Given the description of an element on the screen output the (x, y) to click on. 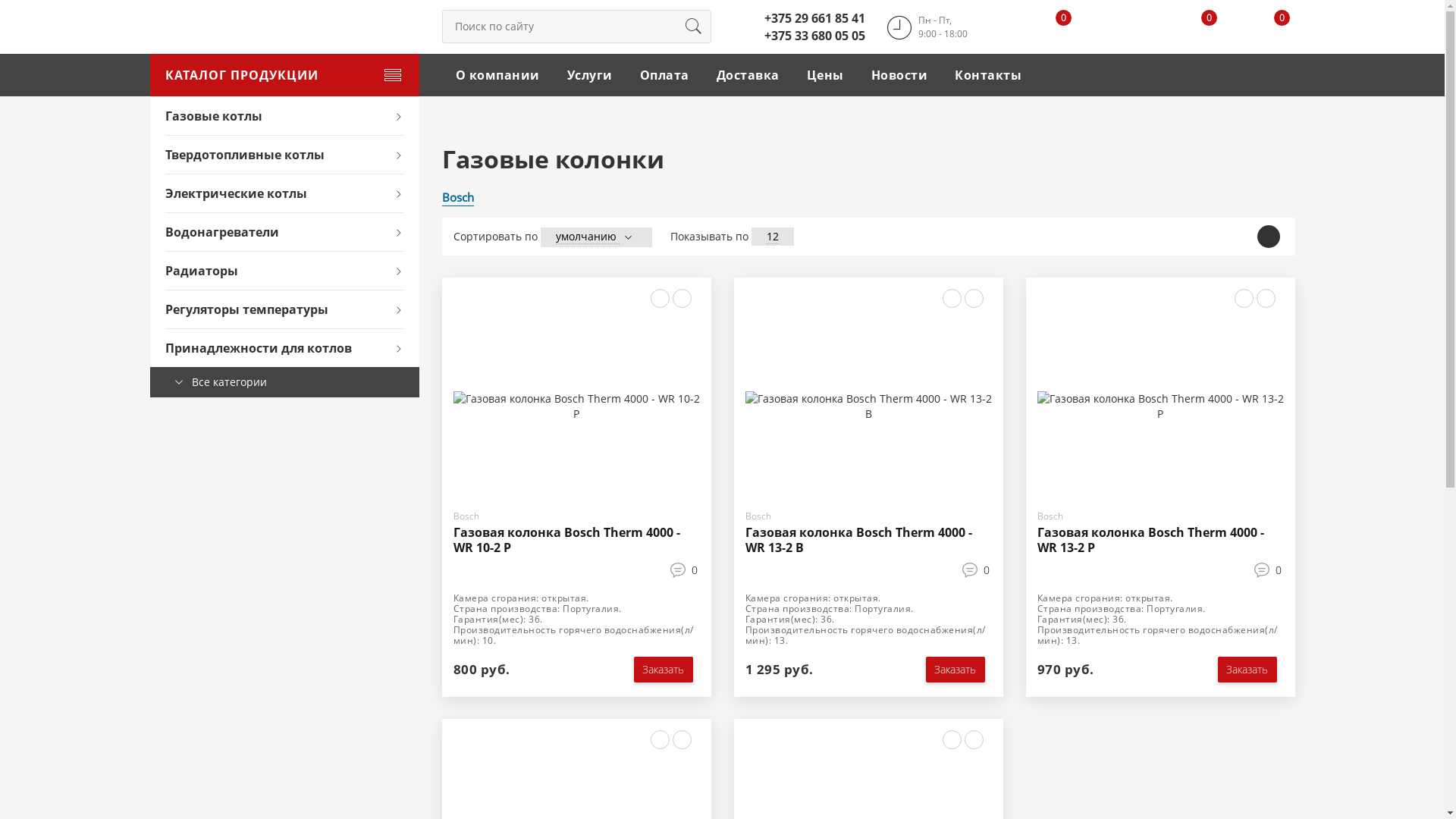
Bosch Element type: text (457, 196)
0 Element type: text (693, 569)
0 Element type: text (1277, 569)
+375 33 680 05 05 Element type: text (814, 35)
0 Element type: text (986, 569)
Bosch Element type: text (757, 515)
Bosch Element type: text (466, 515)
Bosch Element type: text (1050, 515)
+375 29 661 85 41 Element type: text (814, 17)
